Given the description of an element on the screen output the (x, y) to click on. 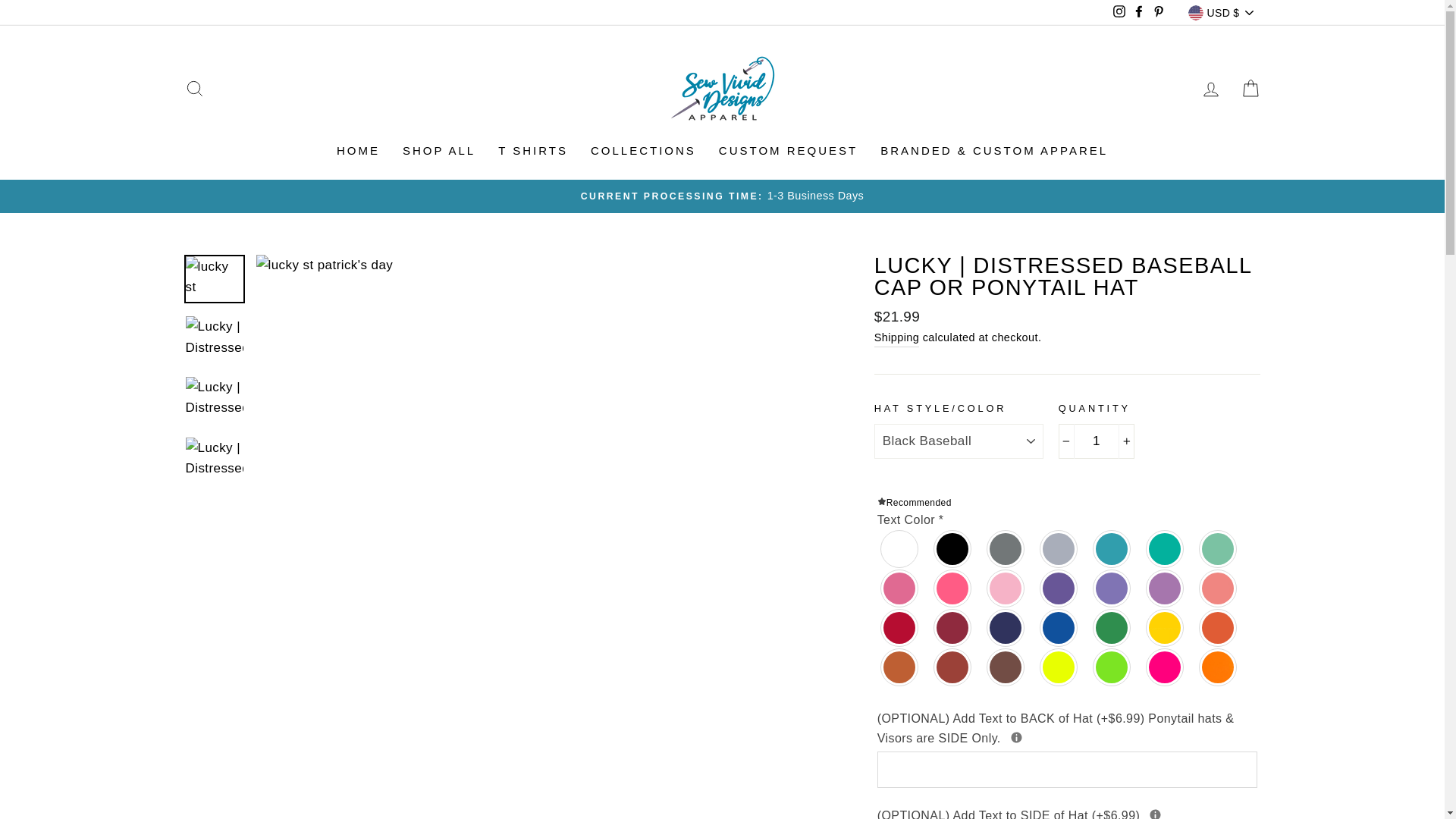
1 (1096, 440)
